Given the description of an element on the screen output the (x, y) to click on. 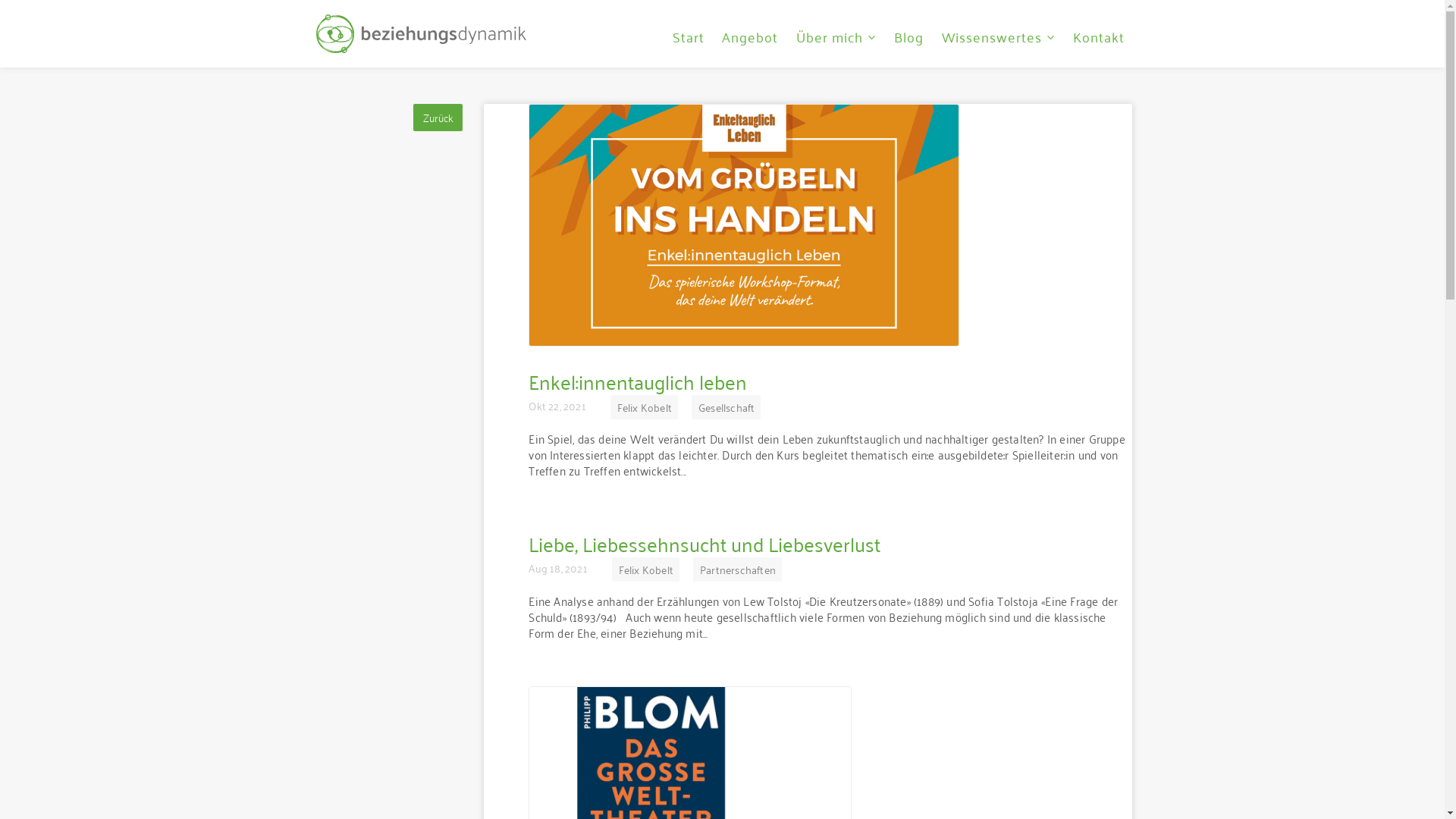
Enkel:innentauglich leben Element type: text (637, 381)
Kontakt Element type: text (1098, 35)
Start Element type: text (687, 35)
Partnerschaften Element type: text (737, 569)
Gesellschaft Element type: text (725, 407)
Blog Element type: text (908, 35)
Angebot Element type: text (750, 35)
Felix Kobelt Element type: text (645, 569)
Wissenswertes Element type: text (997, 35)
Felix Kobelt Element type: text (643, 407)
Liebe, Liebessehnsucht und Liebesverlust Element type: text (704, 543)
